Given the description of an element on the screen output the (x, y) to click on. 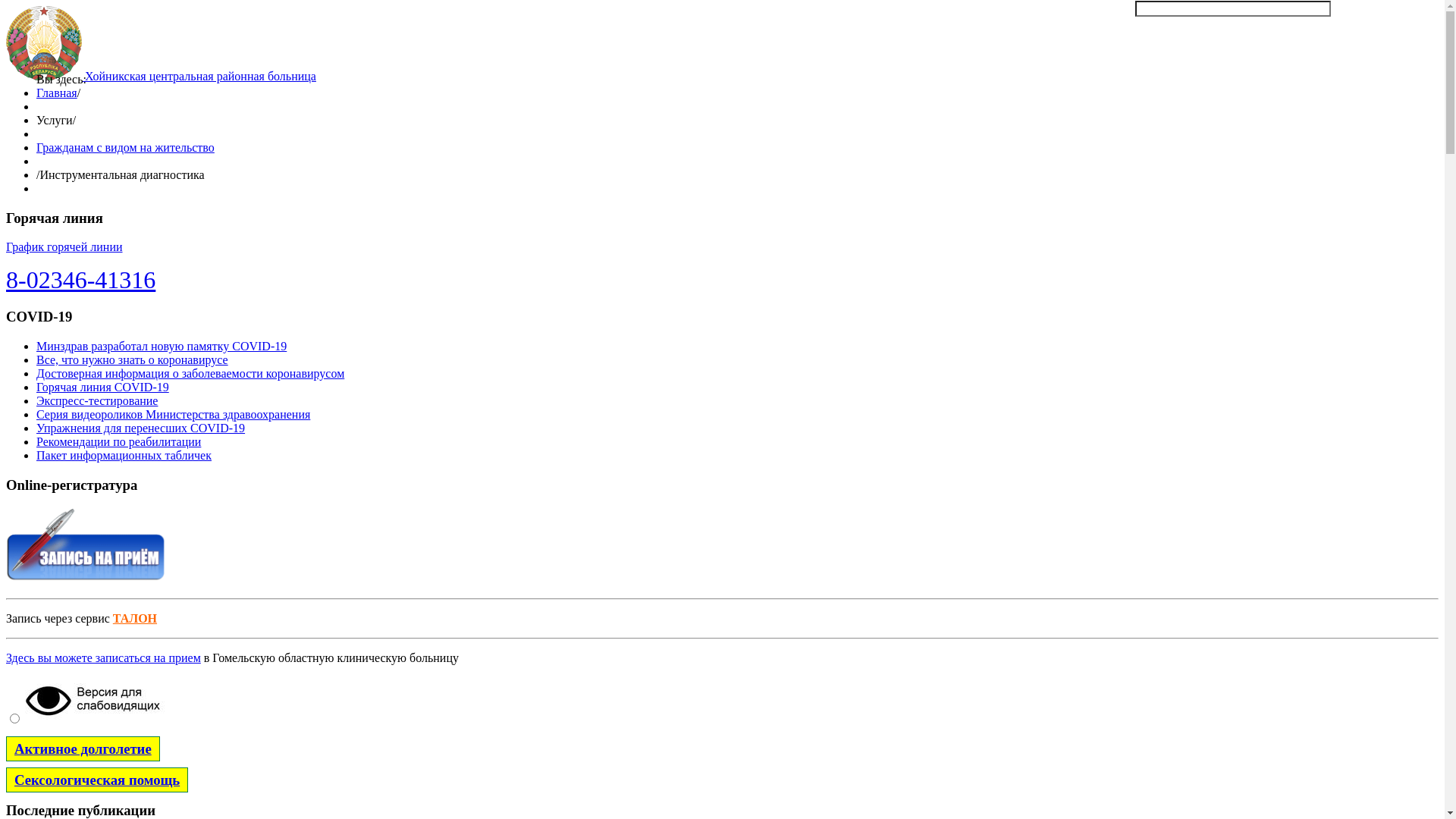
8-02346-41316 Element type: text (80, 279)
